Given the description of an element on the screen output the (x, y) to click on. 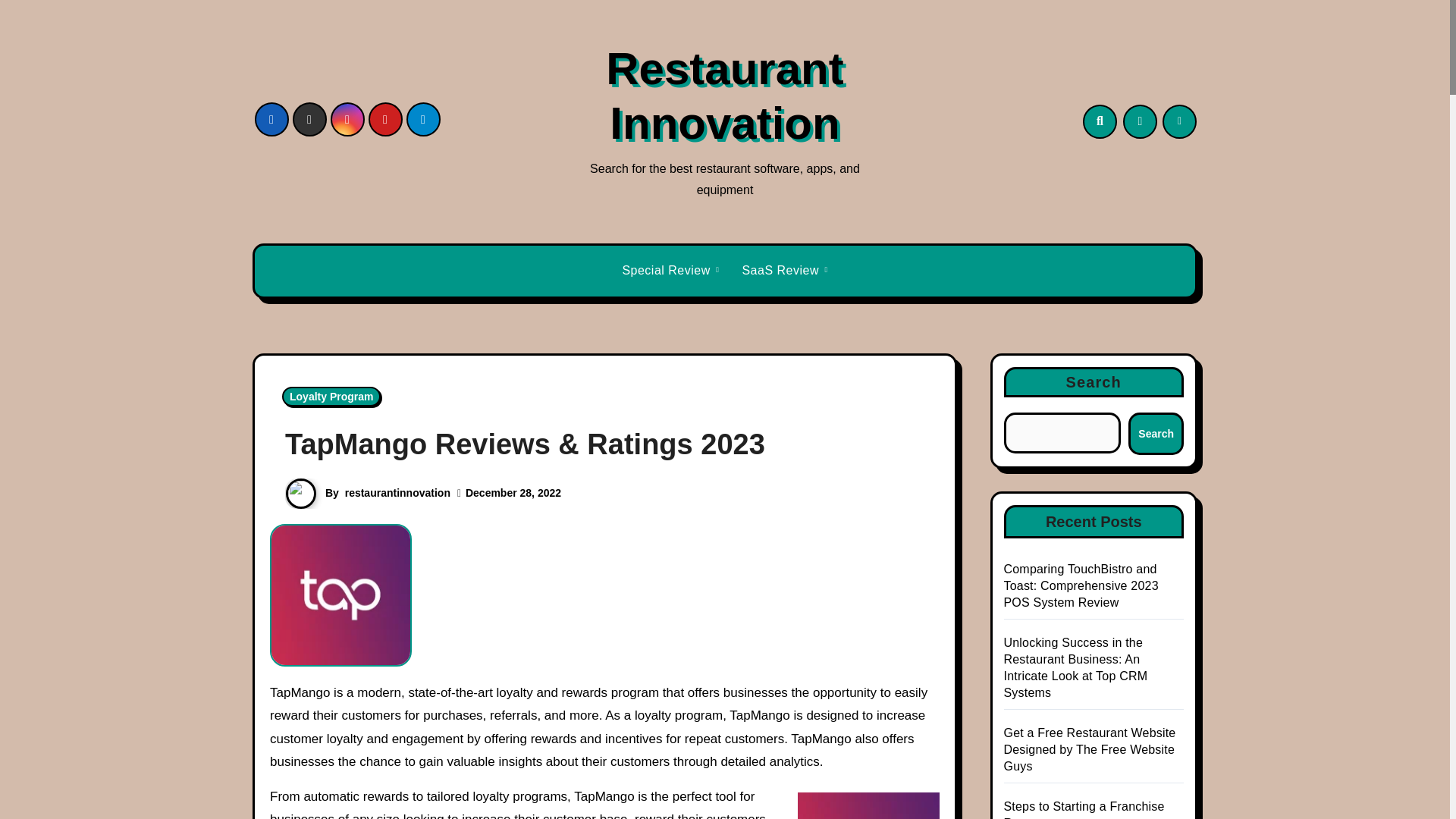
SaaS Review (784, 270)
restaurantinnovation (397, 492)
Loyalty Program (331, 396)
Special Review (670, 270)
December 28, 2022 (512, 492)
Restaurant Innovation (724, 95)
